Given the description of an element on the screen output the (x, y) to click on. 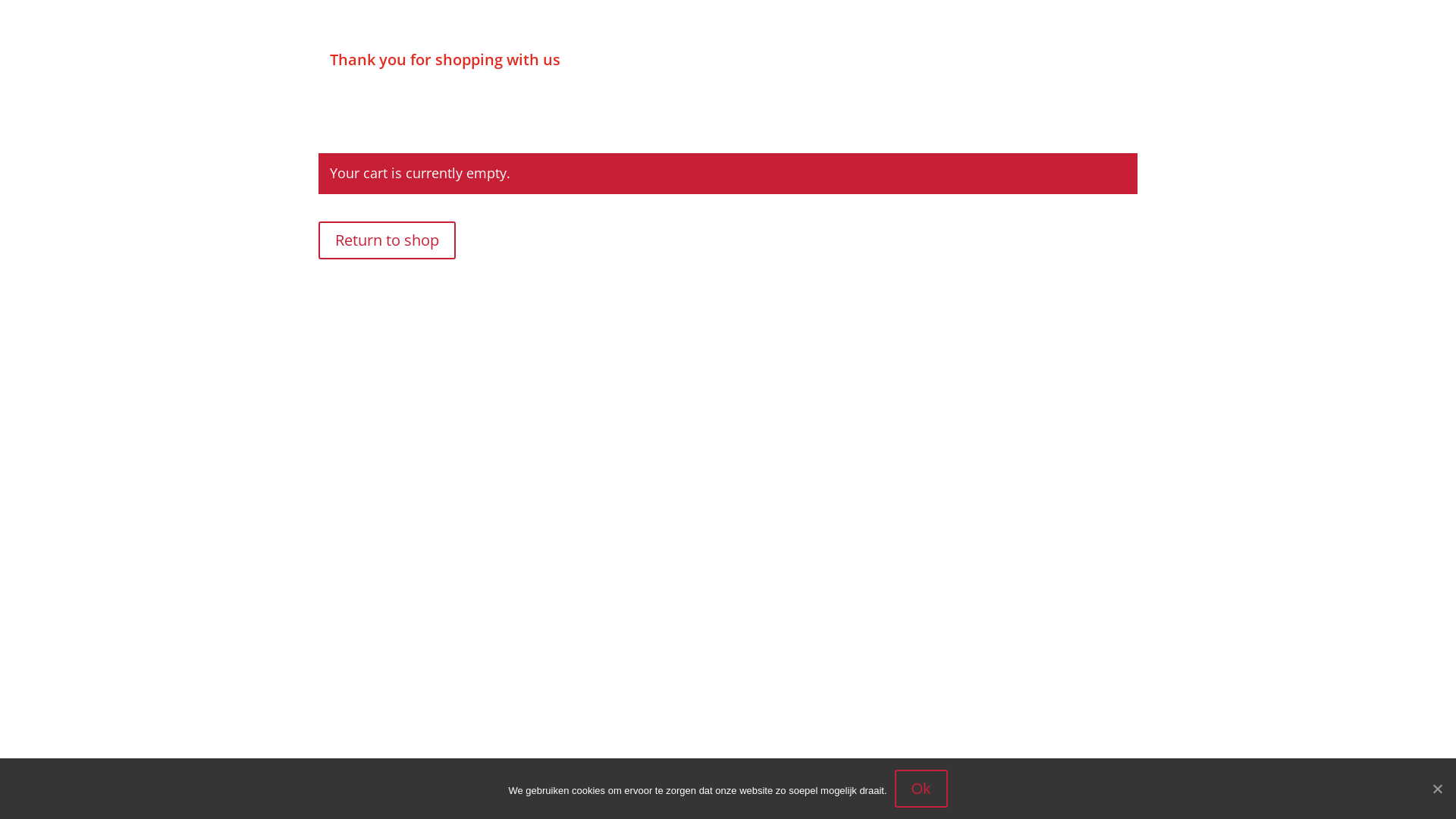
Roularta Digital | Element type: text (762, 797)
Thank you for shopping with us Element type: text (444, 59)
Return to shop Element type: text (386, 240)
Ok Element type: text (920, 788)
Privacy policy Element type: text (845, 797)
